Given the description of an element on the screen output the (x, y) to click on. 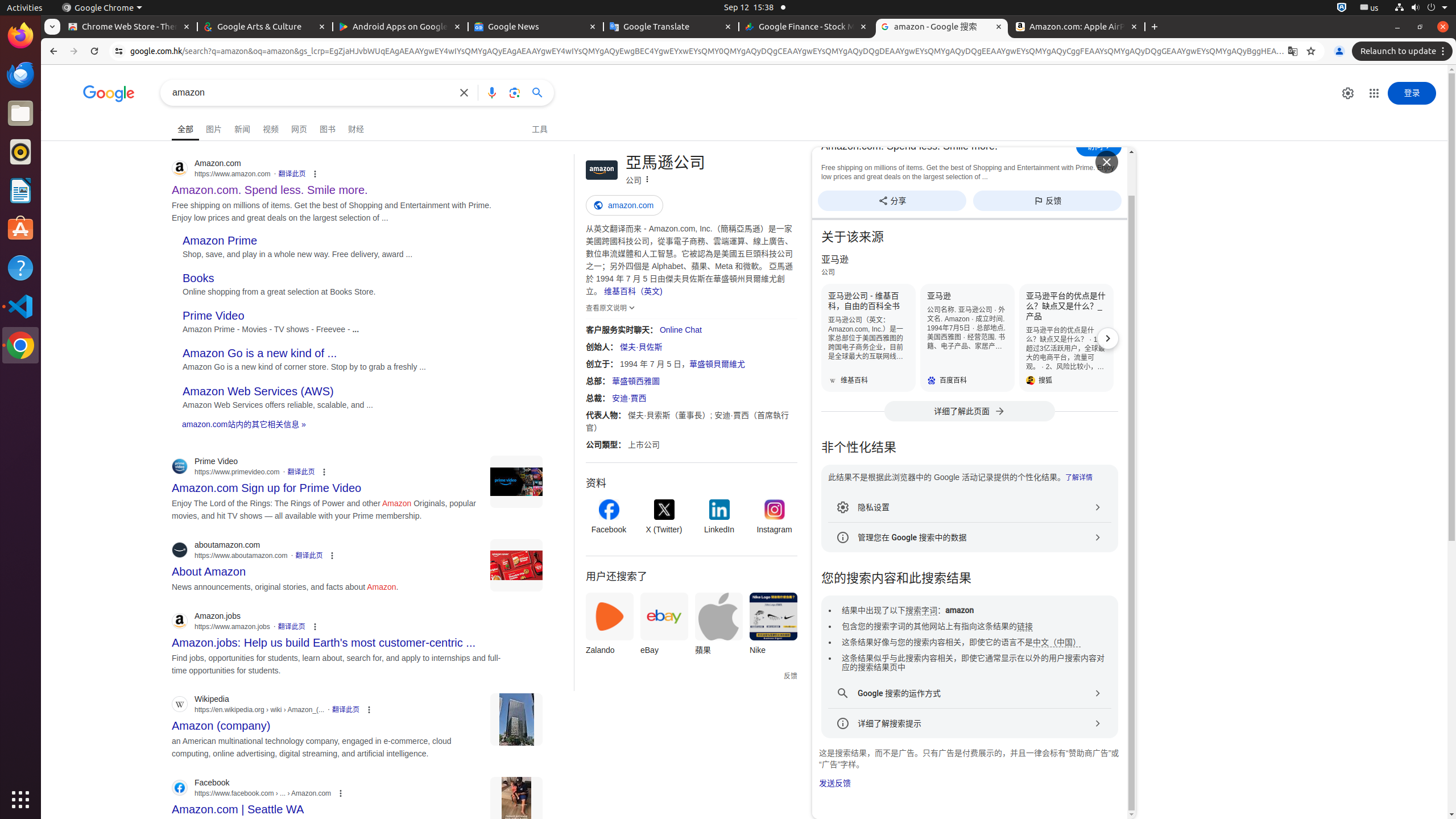
图片 Element type: link (213, 127)
Amazon.com: Apple AirPods (3rd Generation) Wireless Ear Buds, Bluetooth Headphones, Personalized Spatial Audio, Sweat and Water Resistant, Lightning Charging Case Included, Up to 30 Hours of Battery Life : Electronics - Memory usage - 103 MB Element type: page-tab (1077, 26)
亚马逊平台的优点是什么？缺点又是什么？_产品 Element type: link (1066, 337)
图书 Element type: link (327, 127)
 Amazon.com Sign up for Prime Video Prime Video https://www.primevideo.com Element type: link (266, 484)
